Given the description of an element on the screen output the (x, y) to click on. 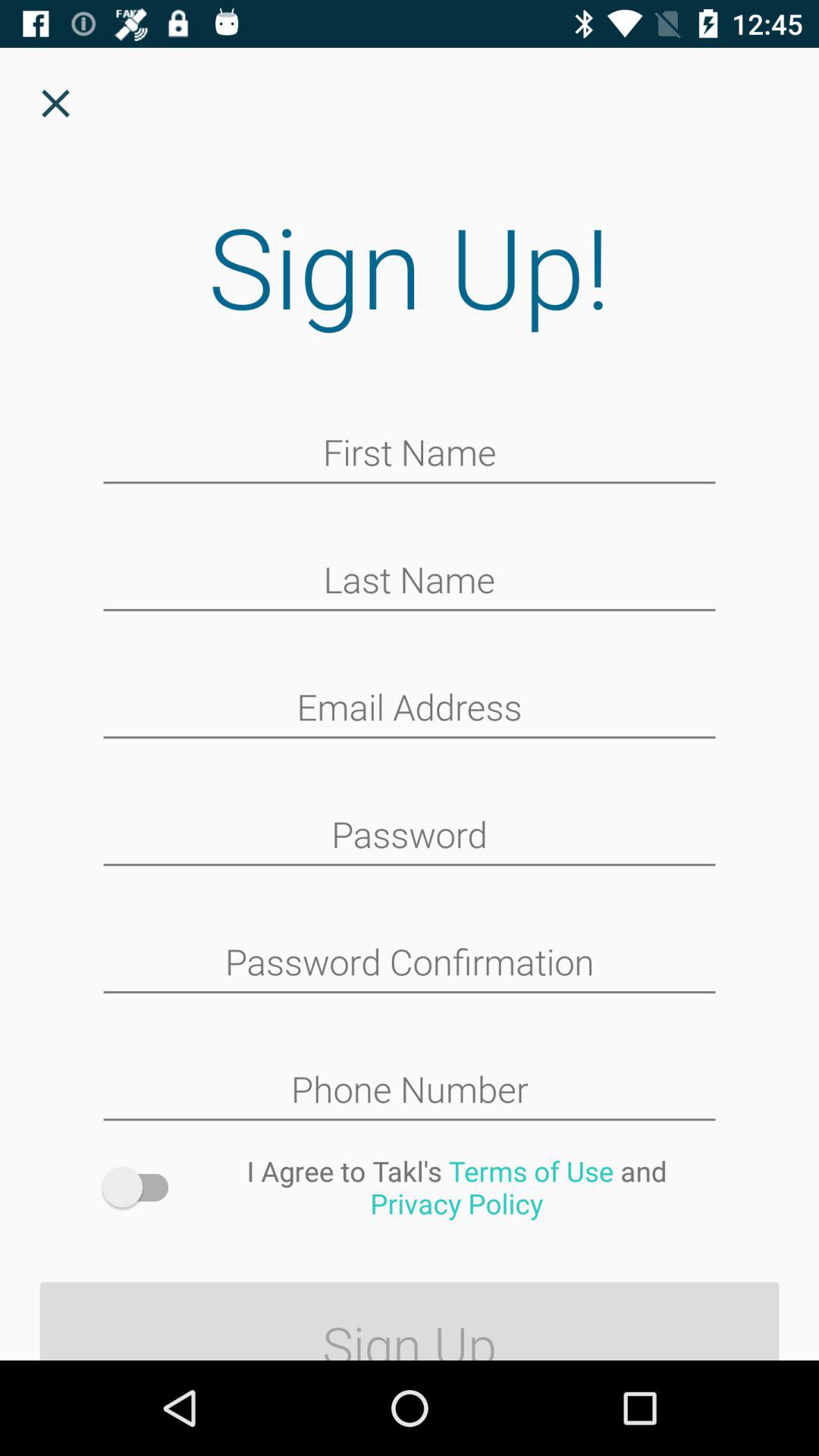
tap the item above the i agree to icon (409, 1091)
